Given the description of an element on the screen output the (x, y) to click on. 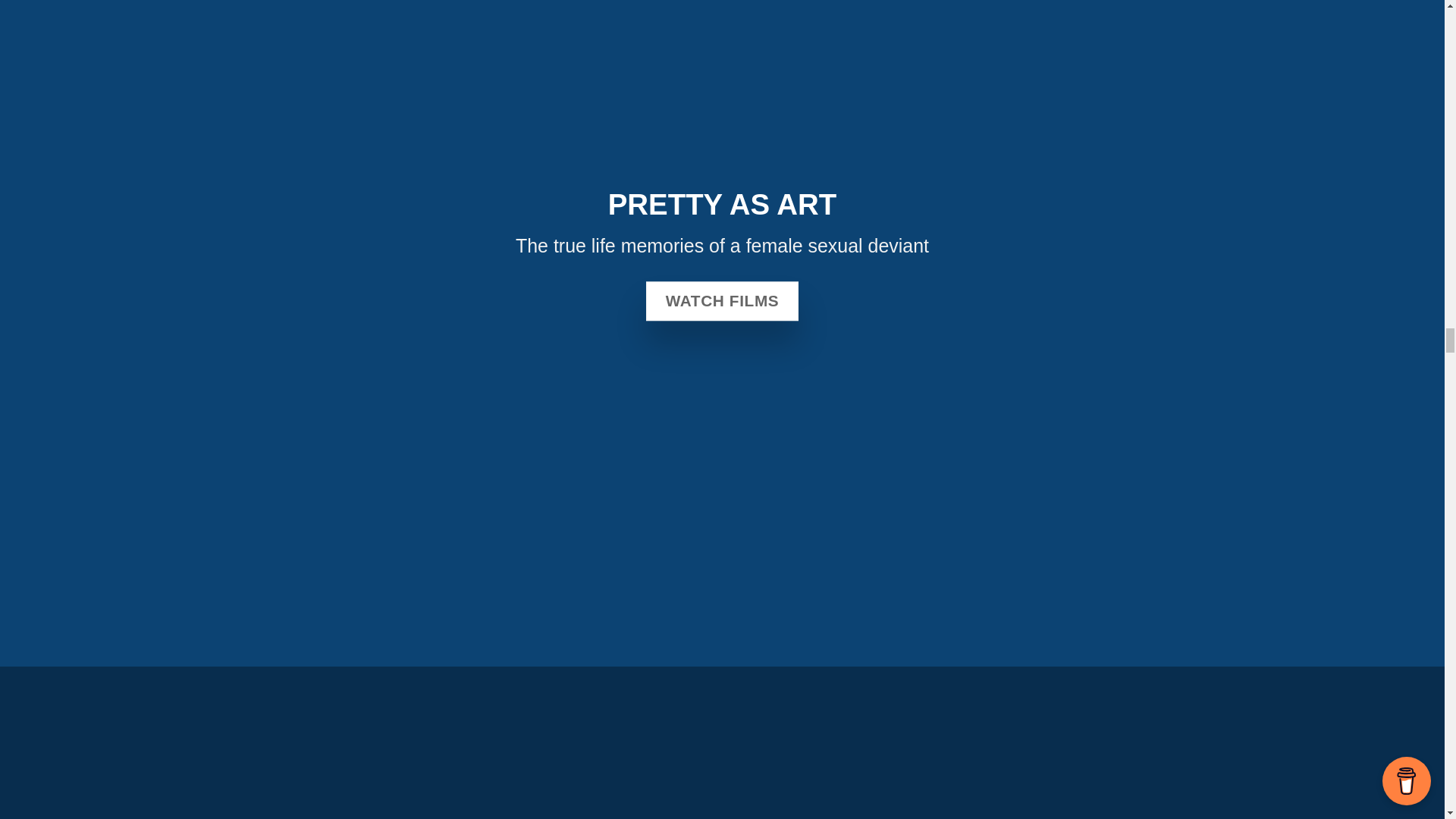
WATCH FILMS (722, 301)
